Given the description of an element on the screen output the (x, y) to click on. 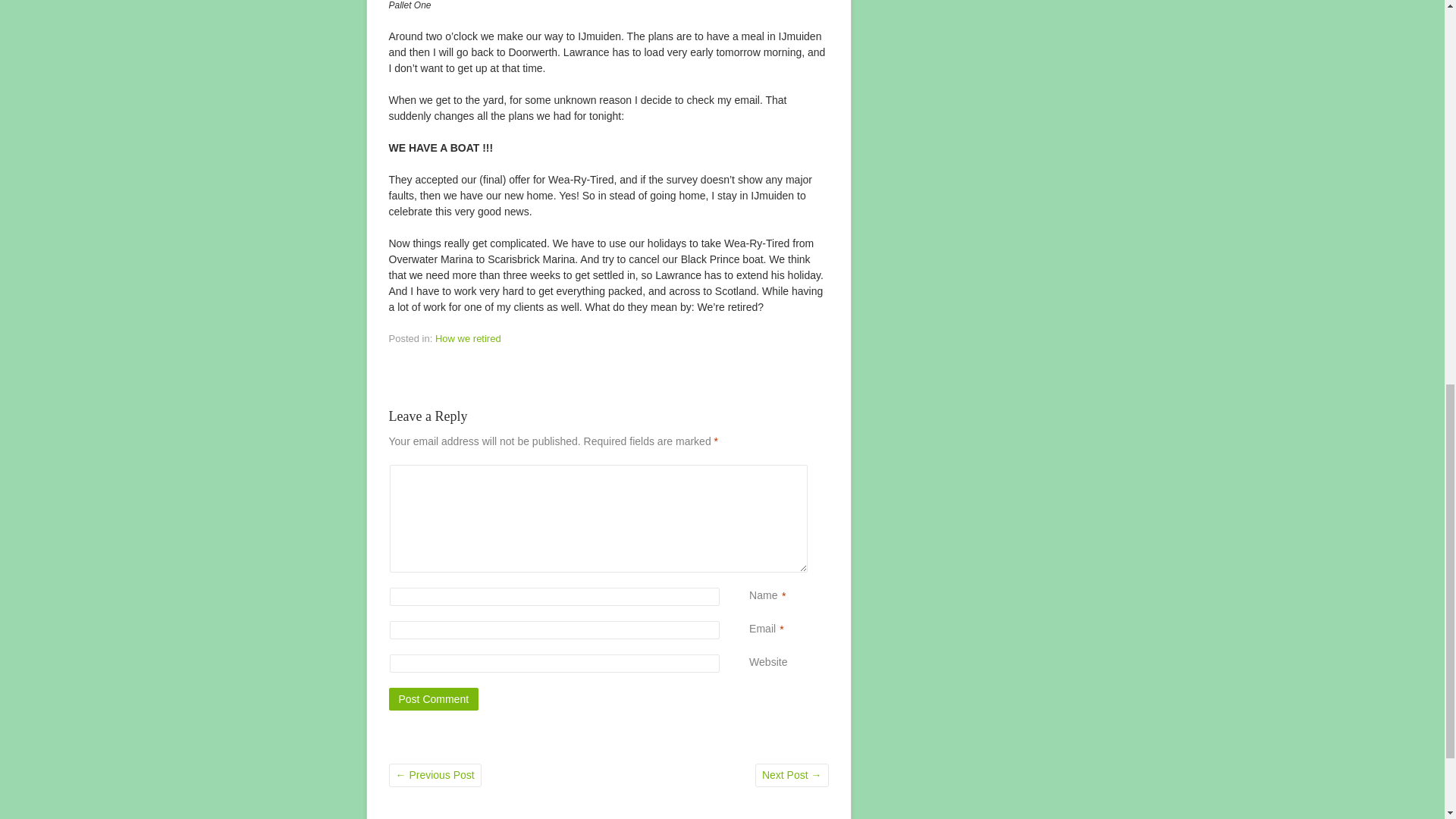
How we retired (467, 337)
Post Comment (433, 698)
Post Comment (433, 698)
